Given the description of an element on the screen output the (x, y) to click on. 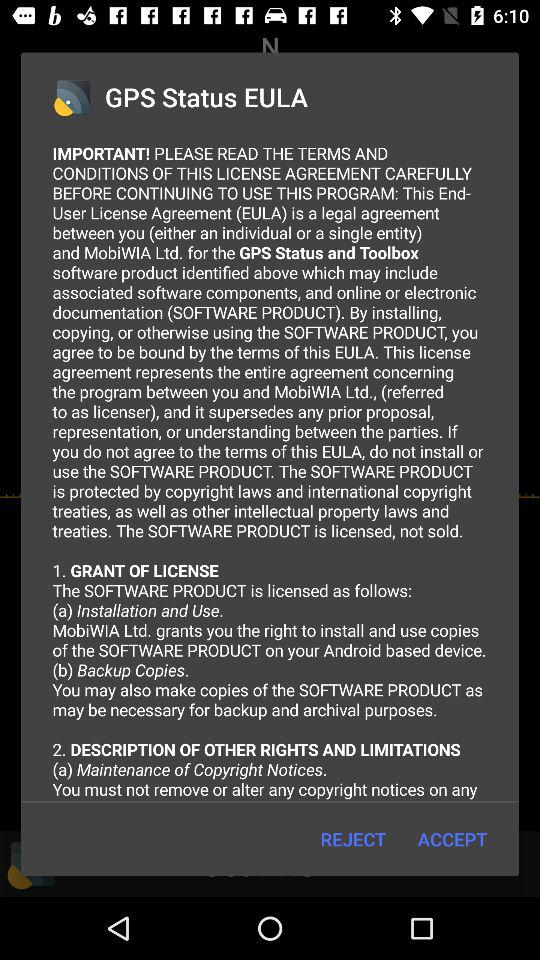
turn off the item to the left of accept icon (352, 838)
